Given the description of an element on the screen output the (x, y) to click on. 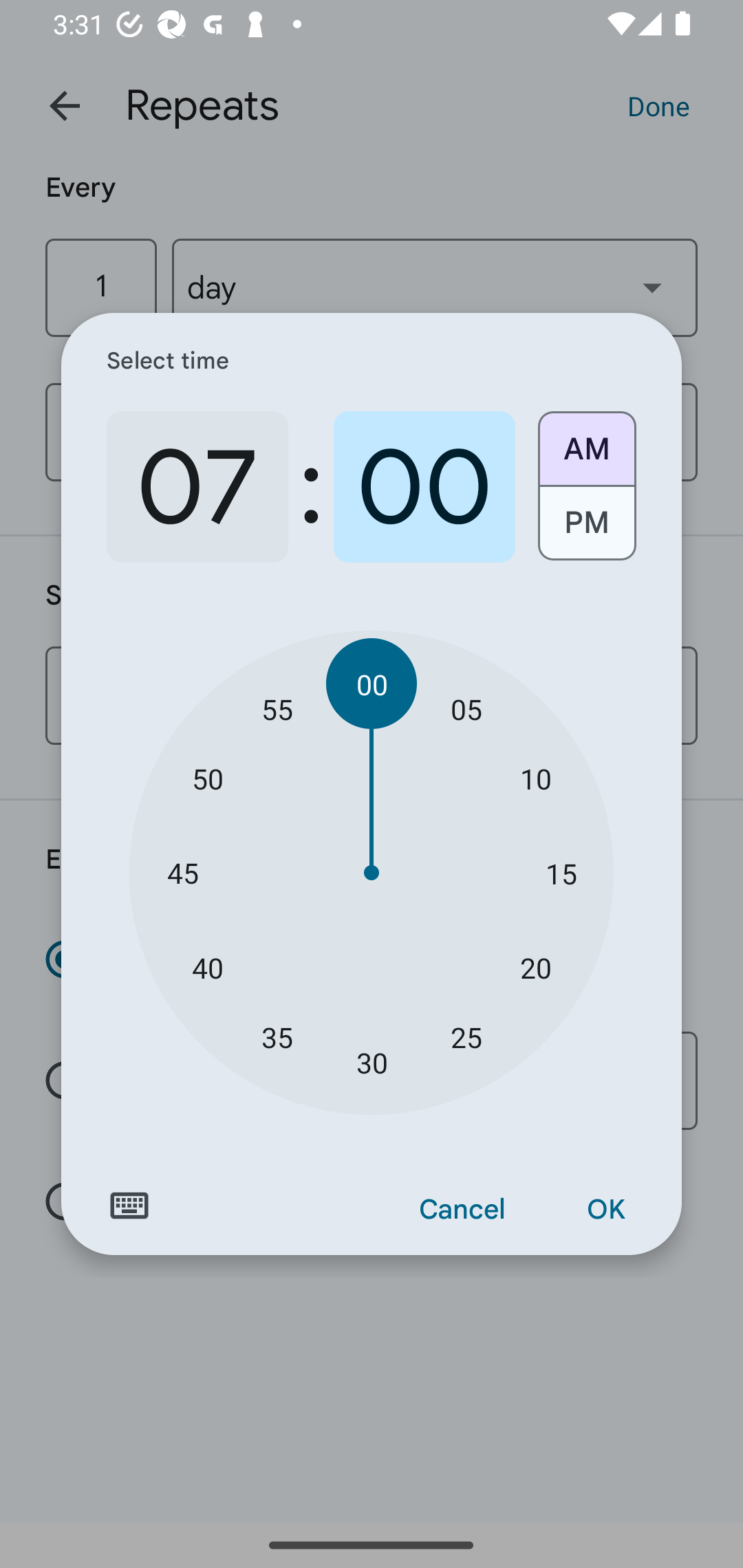
AM (586, 441)
07 7 o'clock (197, 486)
00 0 minutes (424, 486)
PM (586, 529)
00 00 minutes (371, 683)
55 55 minutes (276, 708)
05 05 minutes (466, 708)
50 50 minutes (207, 778)
10 10 minutes (535, 778)
45 45 minutes (182, 872)
15 15 minutes (561, 872)
40 40 minutes (207, 966)
20 20 minutes (535, 966)
35 35 minutes (276, 1035)
25 25 minutes (466, 1035)
30 30 minutes (371, 1062)
Switch to text input mode for the time input. (128, 1205)
Cancel (462, 1209)
OK (605, 1209)
